Given the description of an element on the screen output the (x, y) to click on. 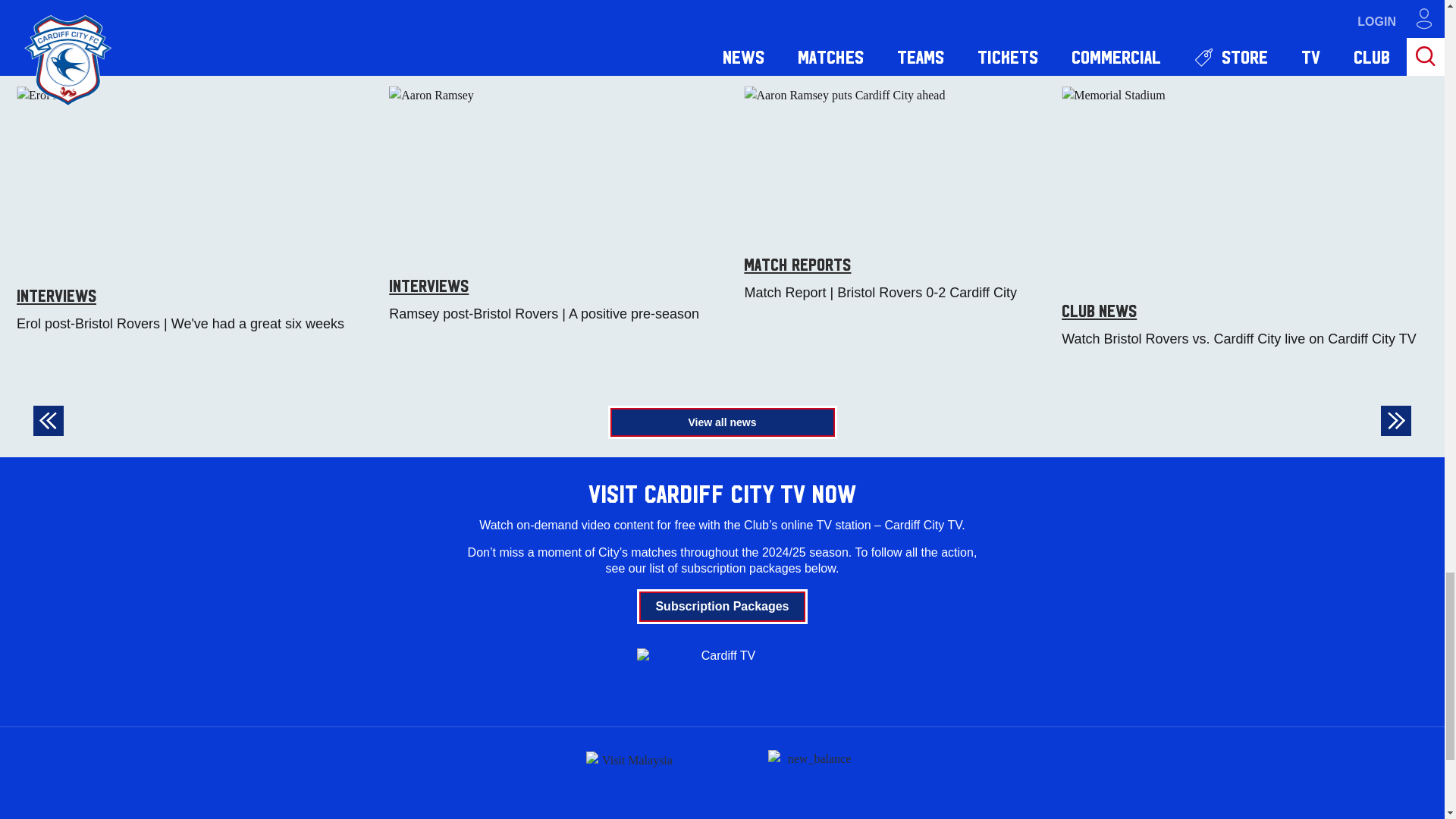
New Balance (813, 777)
Visit Malaysia (631, 777)
